Given the description of an element on the screen output the (x, y) to click on. 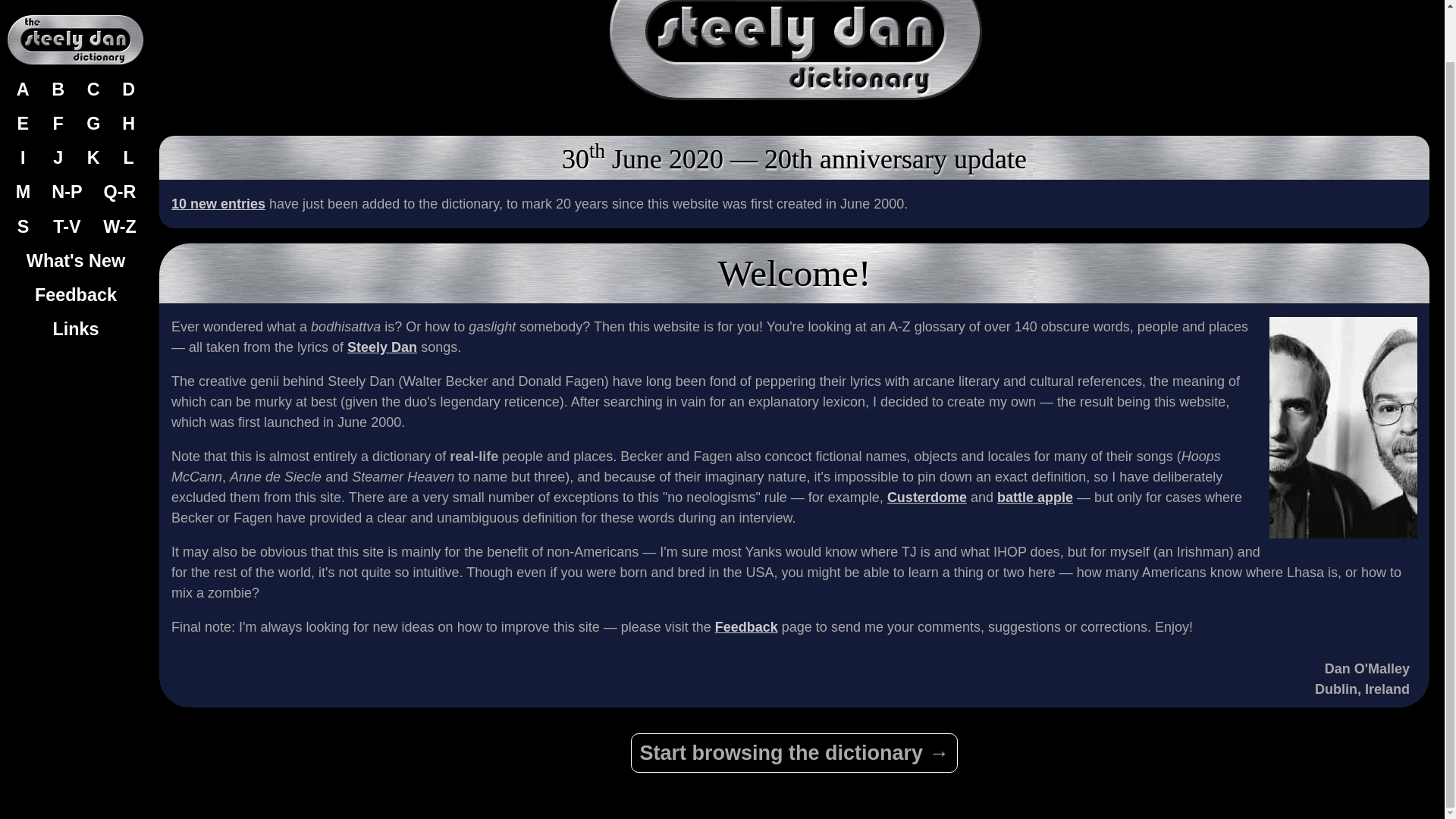
F (58, 67)
E (22, 67)
N-P (66, 135)
T-V (66, 170)
L (128, 101)
Feedback (745, 626)
Steely Dan (381, 346)
Feedback (75, 238)
Links (75, 273)
battle apple (1035, 497)
